Given the description of an element on the screen output the (x, y) to click on. 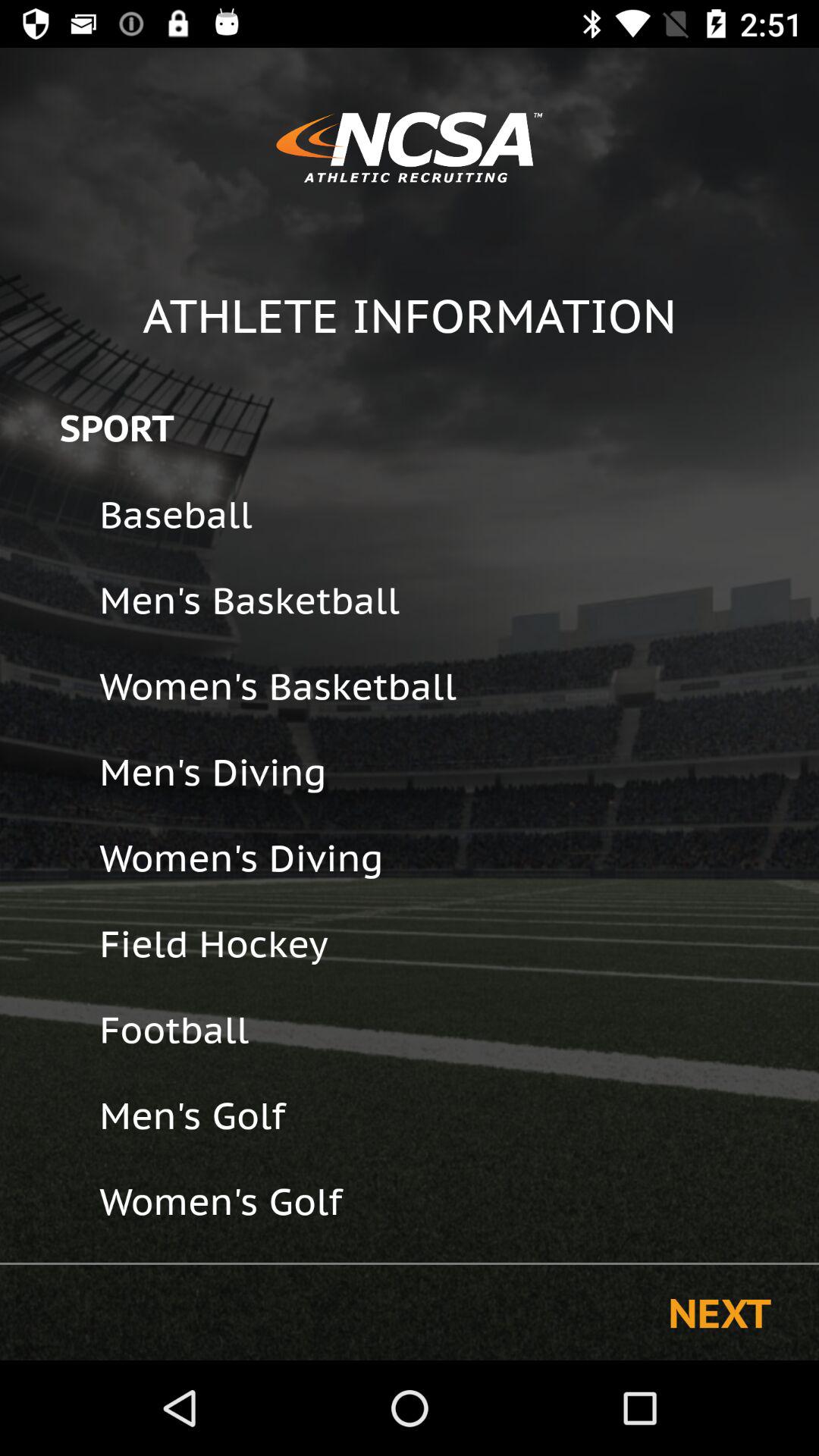
press item below field hockey (449, 1029)
